Given the description of an element on the screen output the (x, y) to click on. 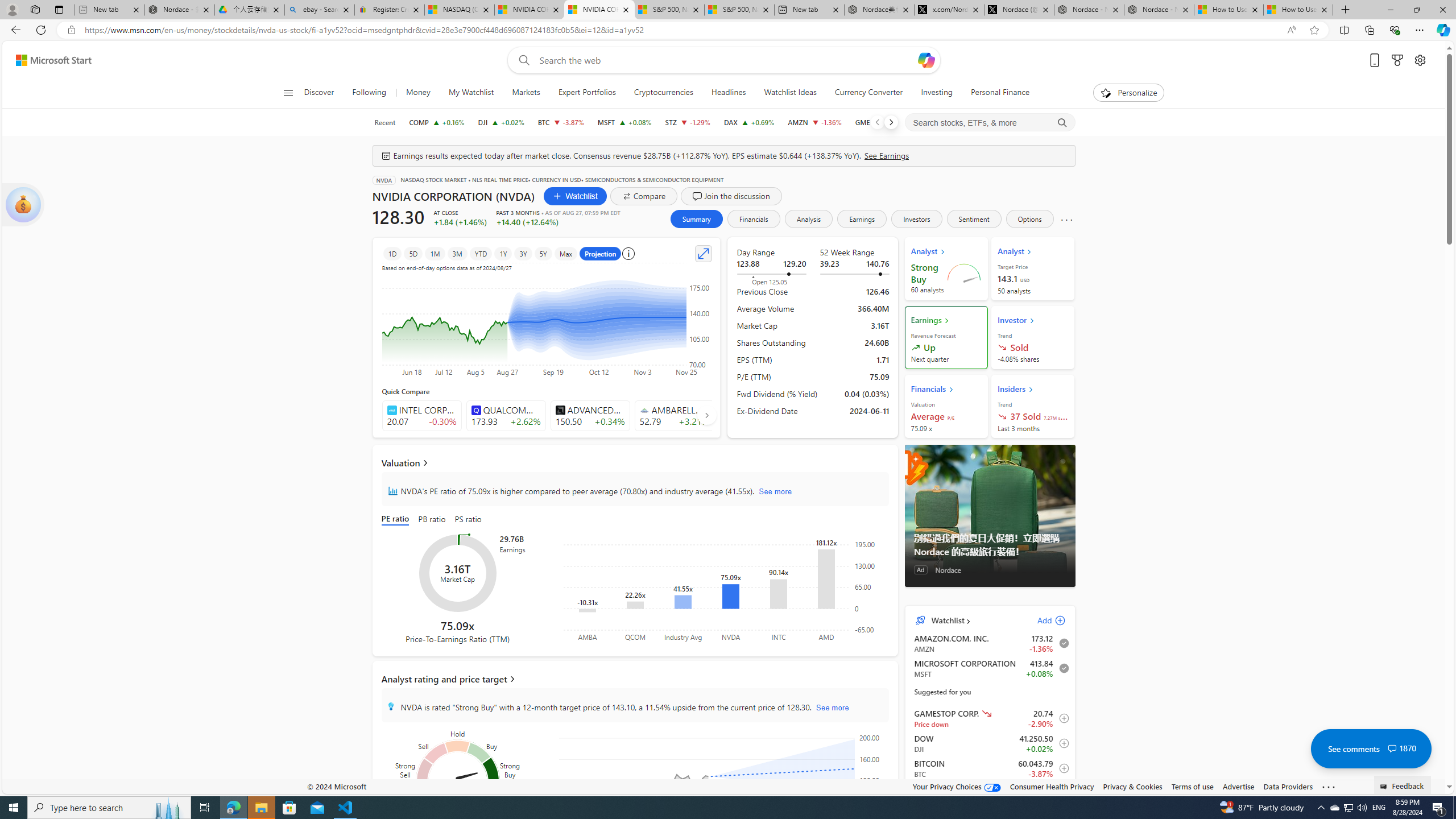
Cryptocurrencies (662, 92)
Data Providers (1288, 785)
YTD (480, 253)
DJI DOW increase 41,250.50 +9.98 +0.02% item1 (989, 742)
Consumer Health Privacy (1051, 785)
Markets (525, 92)
Nordace (@NordaceOfficial) / X (1018, 9)
1D (391, 253)
show card (22, 204)
